Given the description of an element on the screen output the (x, y) to click on. 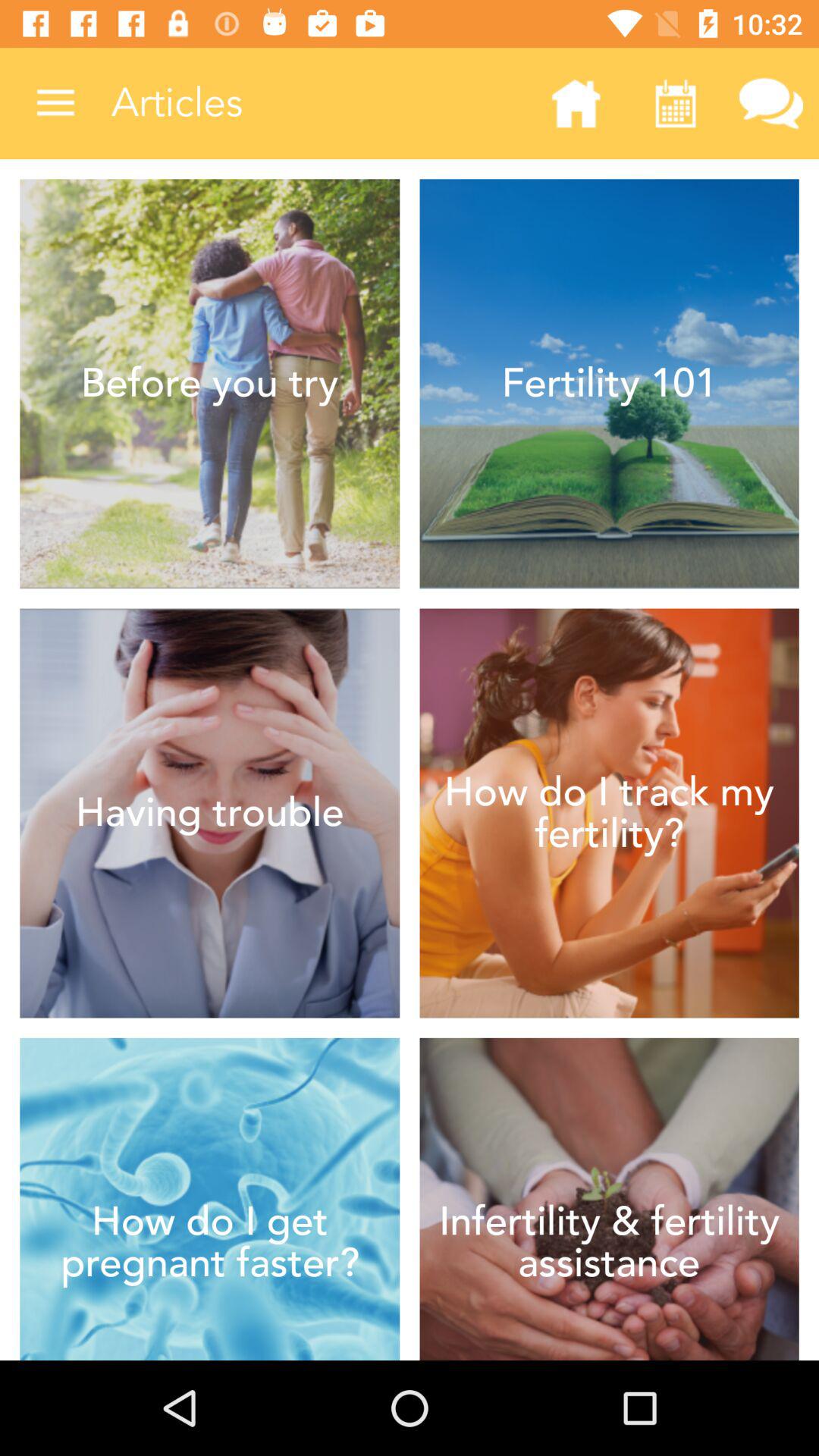
click icon to the right of the articles (575, 103)
